Given the description of an element on the screen output the (x, y) to click on. 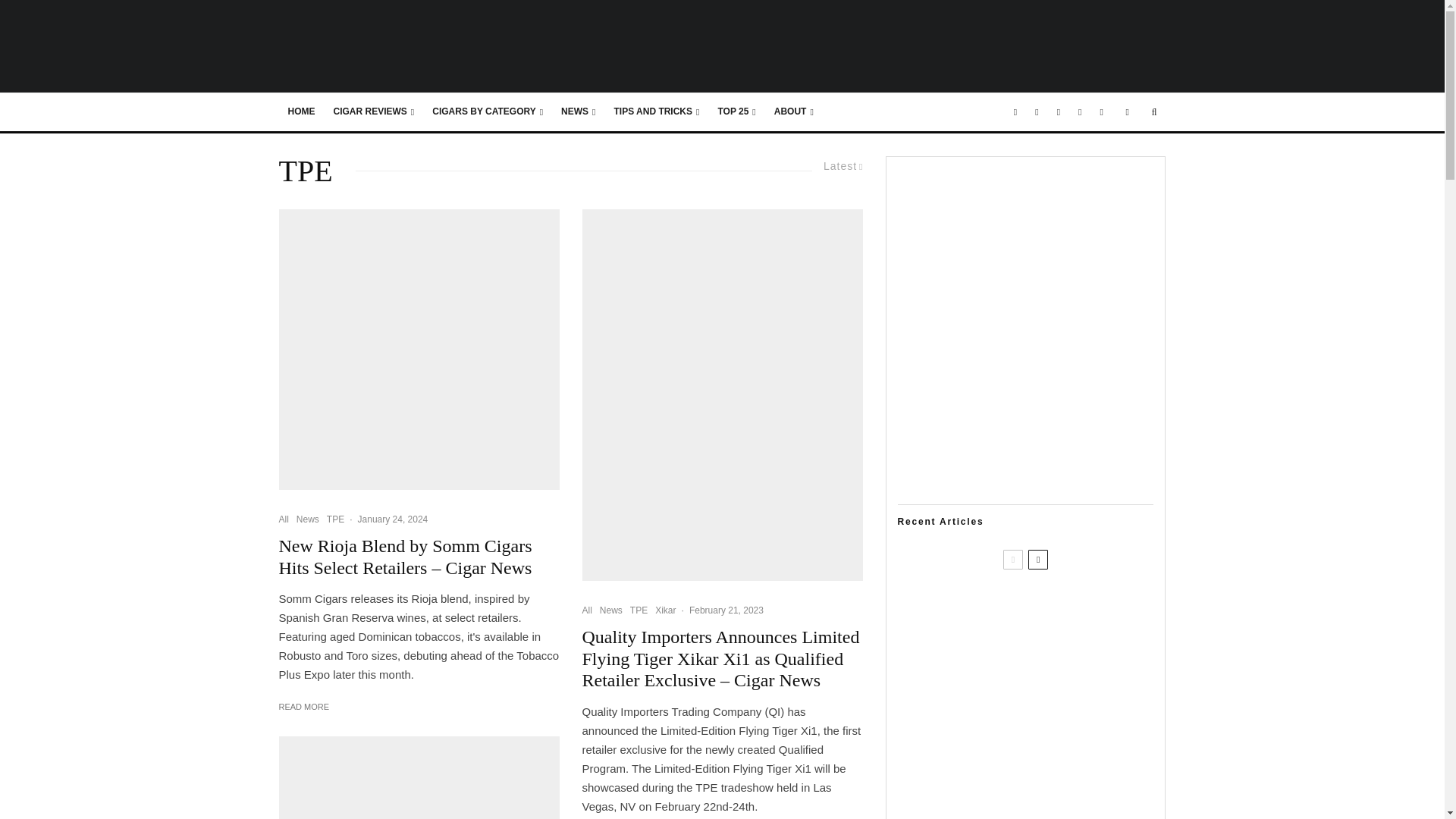
CIGAR REVIEWS (373, 112)
CIGARS BY CATEGORY (487, 112)
HOME (301, 112)
